Given the description of an element on the screen output the (x, y) to click on. 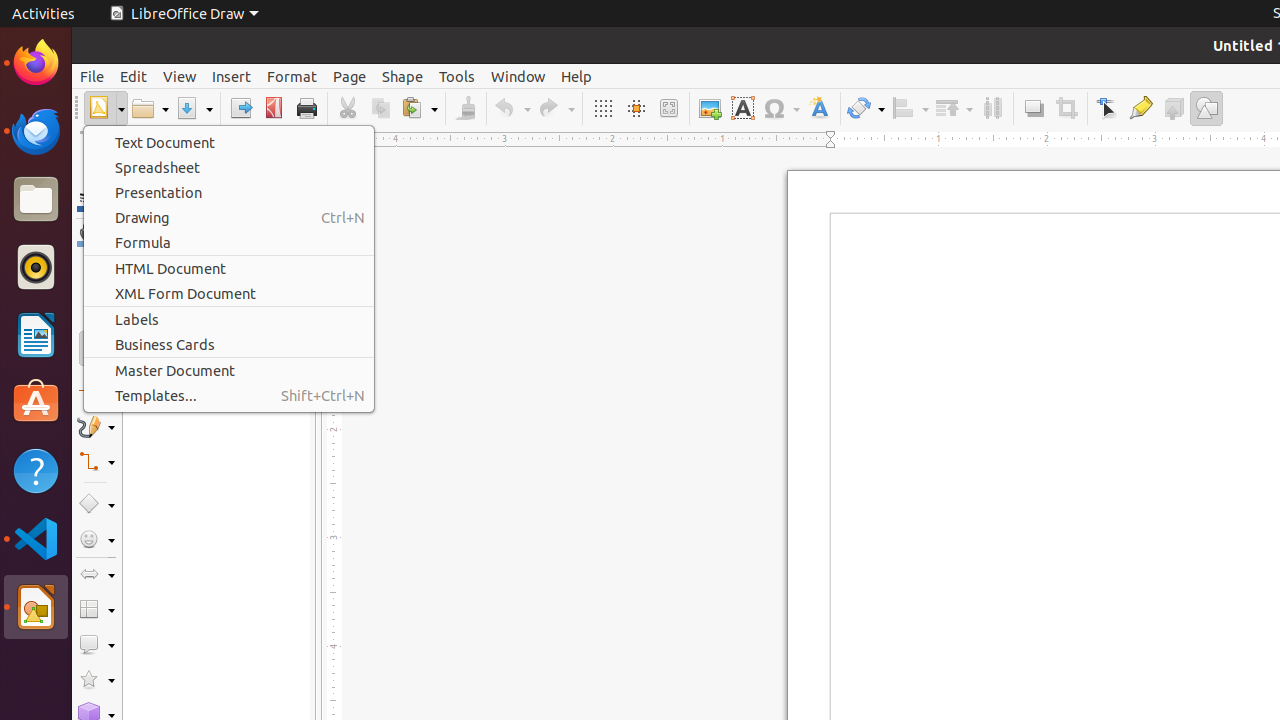
Firefox Web Browser Element type: push-button (36, 63)
LibreOffice Draw Element type: push-button (36, 607)
Files Element type: push-button (36, 199)
Ubuntu Software Element type: push-button (36, 402)
Visual Studio Code Element type: push-button (36, 538)
